Given the description of an element on the screen output the (x, y) to click on. 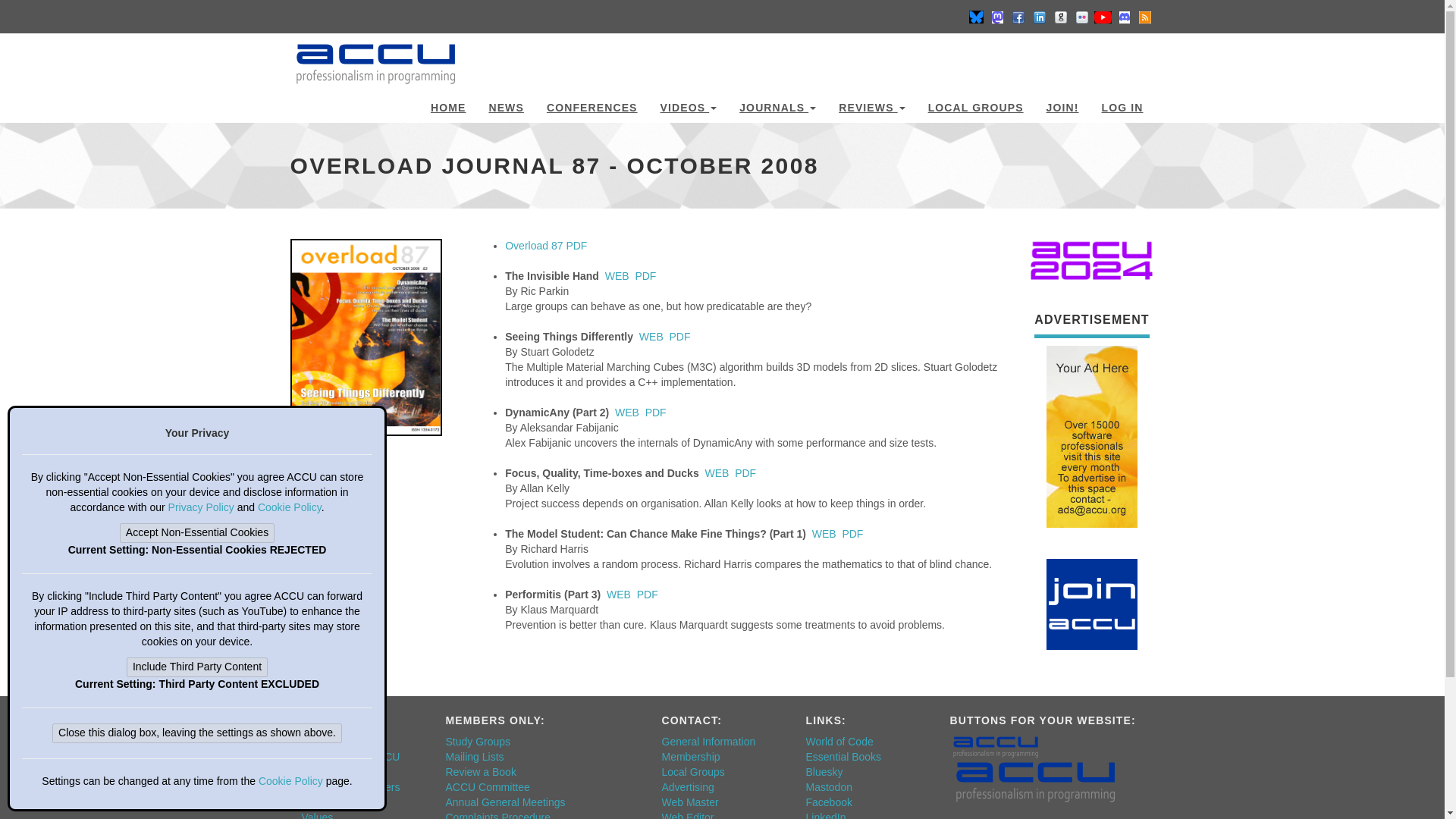
HOME (448, 105)
JOURNALS (777, 105)
VIDEOS (689, 105)
CONFERENCES (592, 105)
Overload Journal 87 - October 2008 - go to homepage (375, 56)
REVIEWS (871, 105)
NEWS (505, 105)
